Given the description of an element on the screen output the (x, y) to click on. 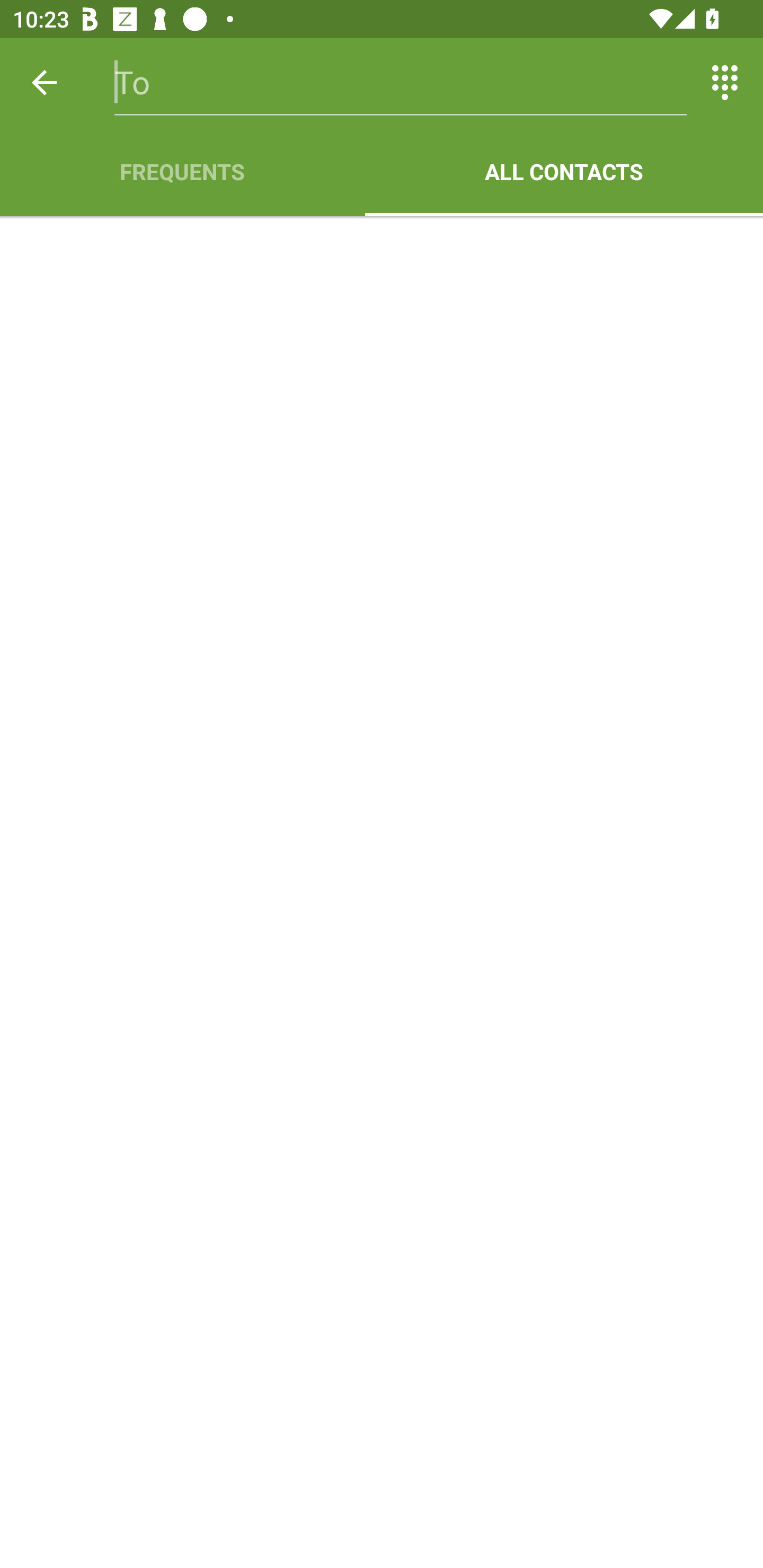
Back (44, 82)
Switch between entering text and numbers (724, 81)
To (400, 82)
FREQUENTS (182, 171)
ALL CONTACTS (563, 171)
